Given the description of an element on the screen output the (x, y) to click on. 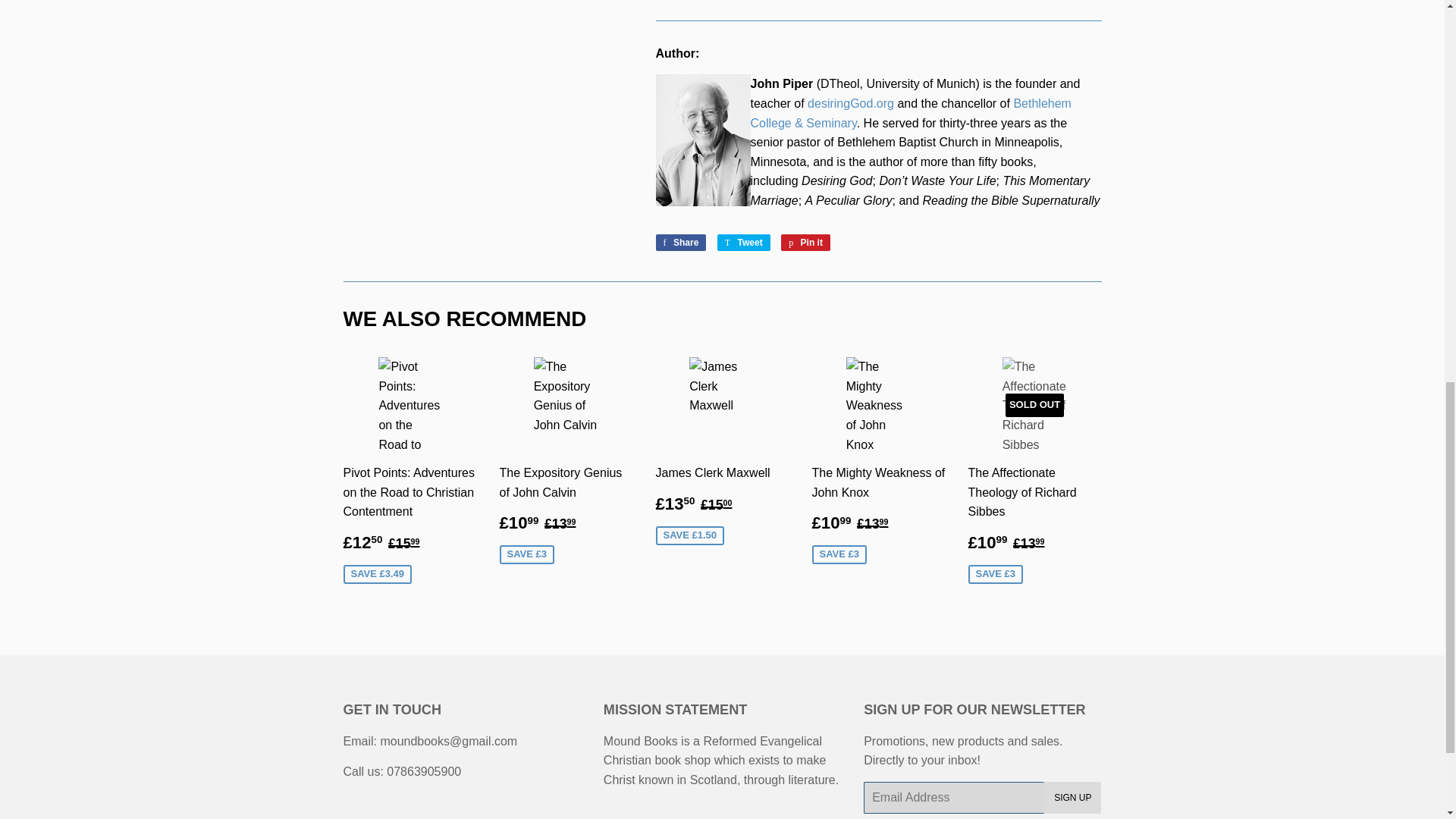
Share on Facebook (680, 242)
Pin on Pinterest (804, 242)
Tweet on Twitter (743, 242)
